Given the description of an element on the screen output the (x, y) to click on. 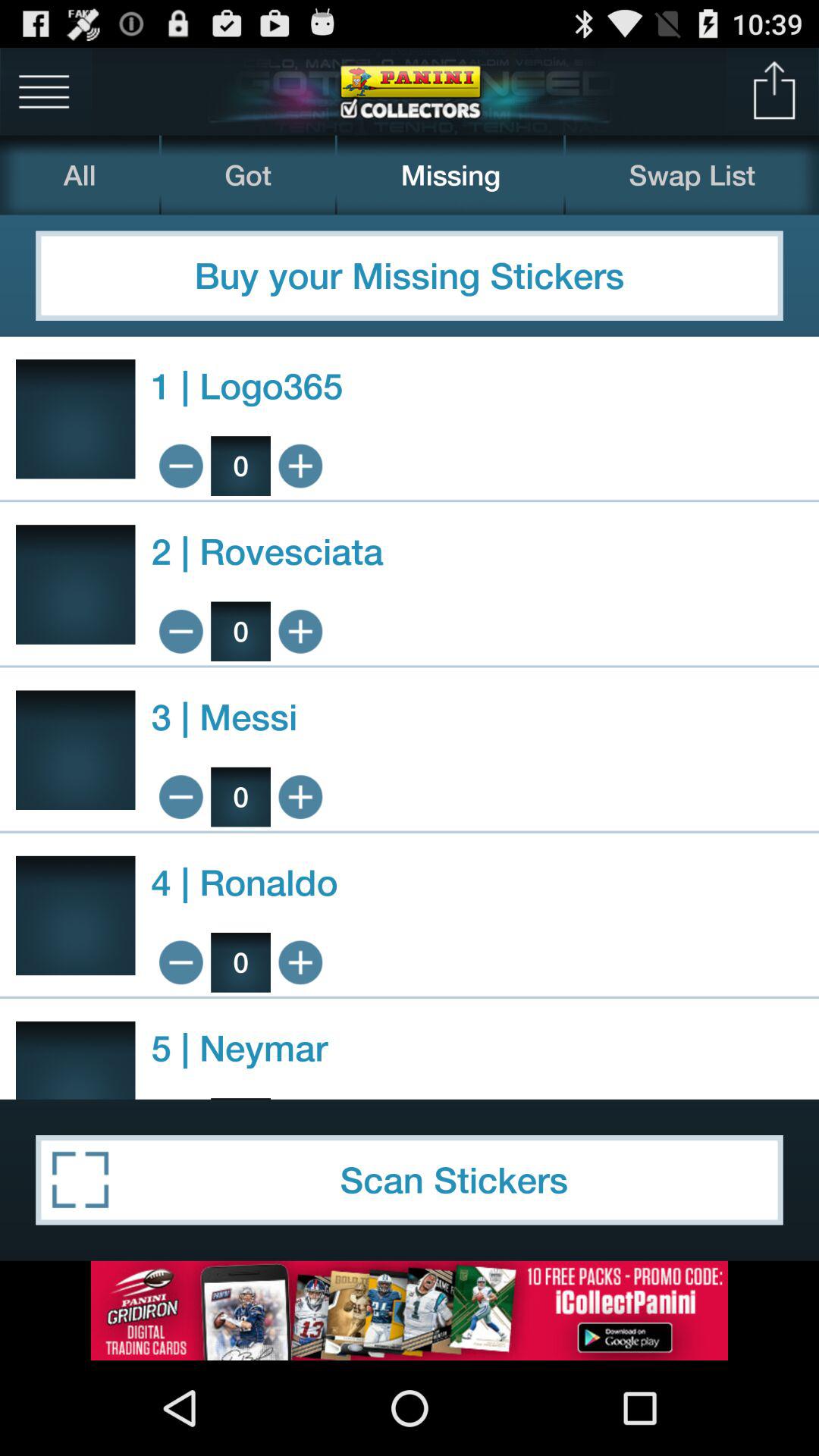
tap to add (300, 631)
